Given the description of an element on the screen output the (x, y) to click on. 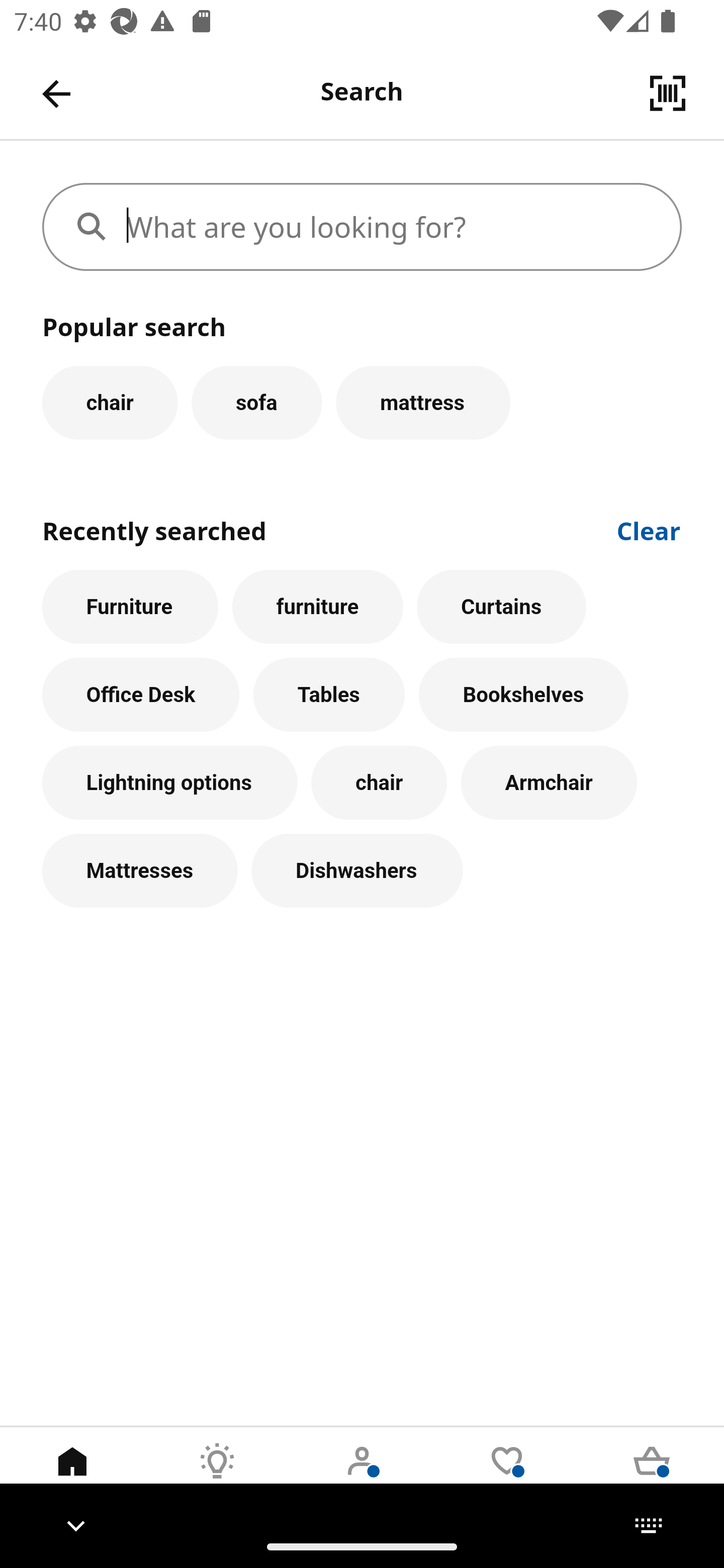
chair (109, 402)
sofa (256, 402)
mattress (423, 402)
Clear (649, 528)
Furniture (129, 606)
furniture (317, 606)
Curtains (501, 606)
Office Desk (140, 695)
Tables (328, 695)
Bookshelves (523, 695)
Lightning options (169, 783)
chair (379, 783)
Armchair (549, 783)
Mattresses (139, 870)
Dishwashers (357, 870)
Home
Tab 1 of 5 (72, 1476)
Inspirations
Tab 2 of 5 (216, 1476)
User
Tab 3 of 5 (361, 1476)
Wishlist
Tab 4 of 5 (506, 1476)
Cart
Tab 5 of 5 (651, 1476)
